Given the description of an element on the screen output the (x, y) to click on. 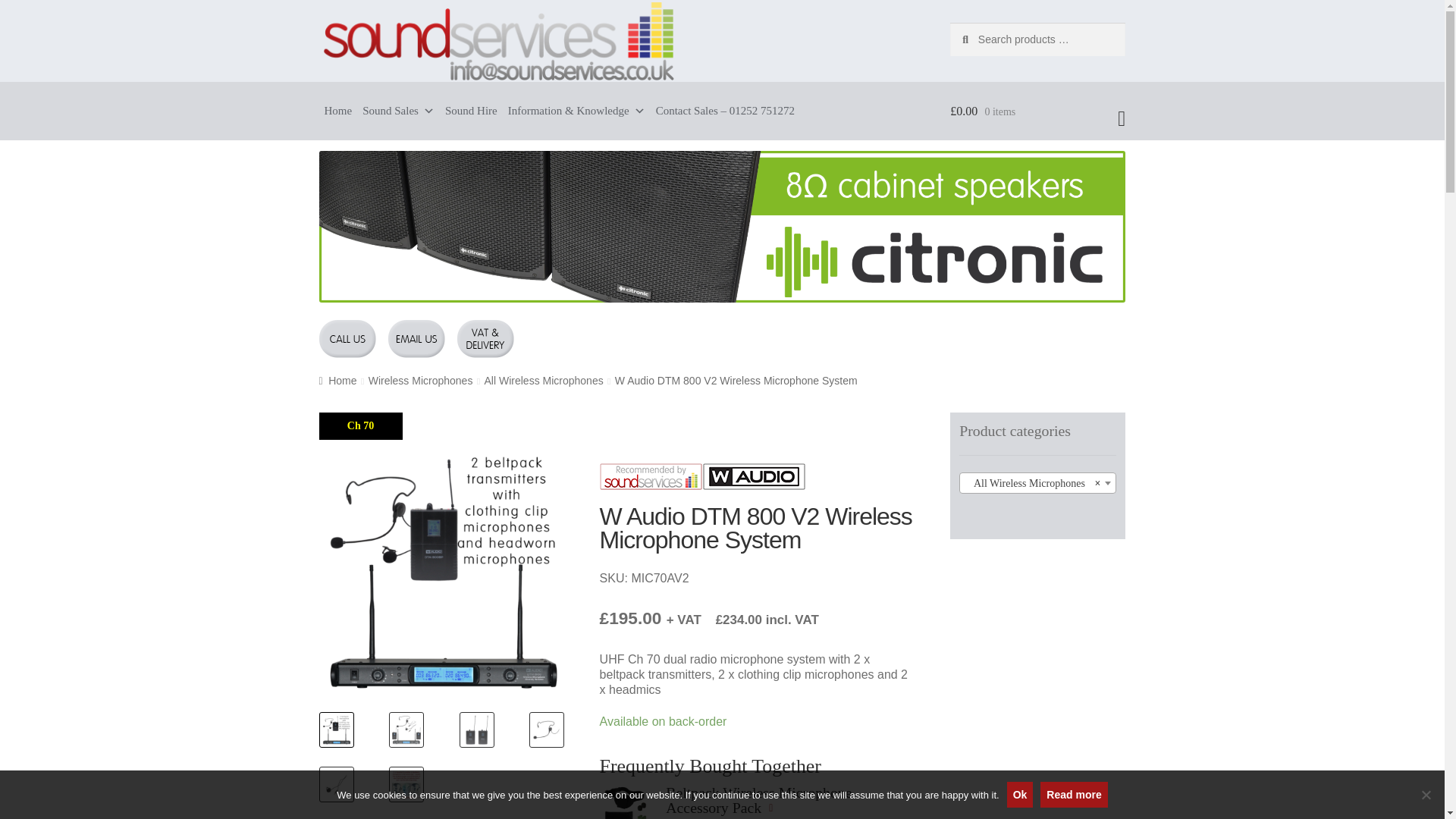
DTM 800 (686, 573)
W Audio (754, 476)
Recommended Products (650, 476)
View your shopping basket (1037, 110)
Sound Sales (397, 110)
Beltpack Accessory Pack (624, 801)
